Given the description of an element on the screen output the (x, y) to click on. 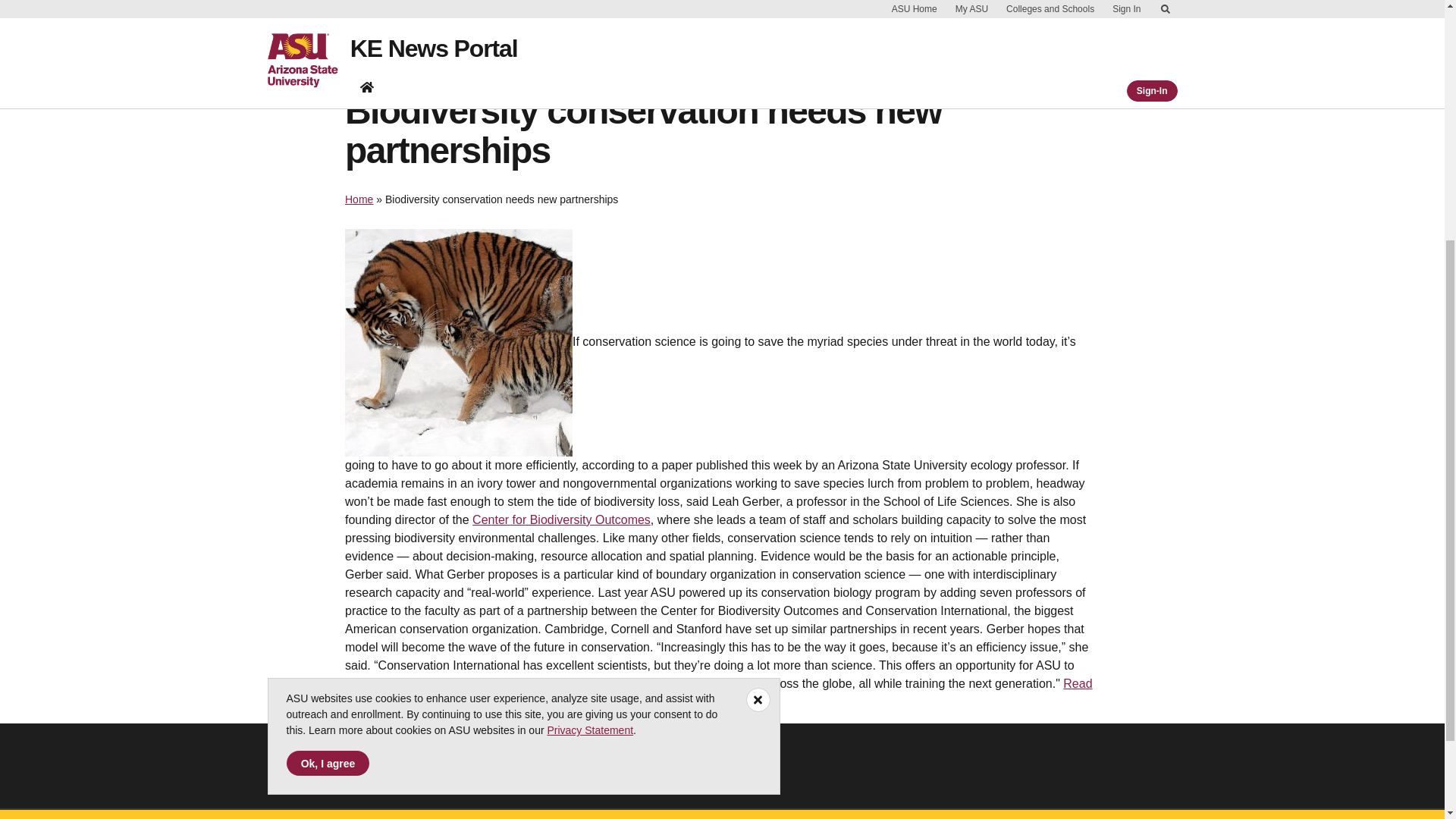
Privacy Statement (590, 354)
Ok, I agree (327, 387)
Home (358, 199)
Read the full story on ASU Now (719, 692)
Center for Biodiversity Outcomes (560, 519)
